Given the description of an element on the screen output the (x, y) to click on. 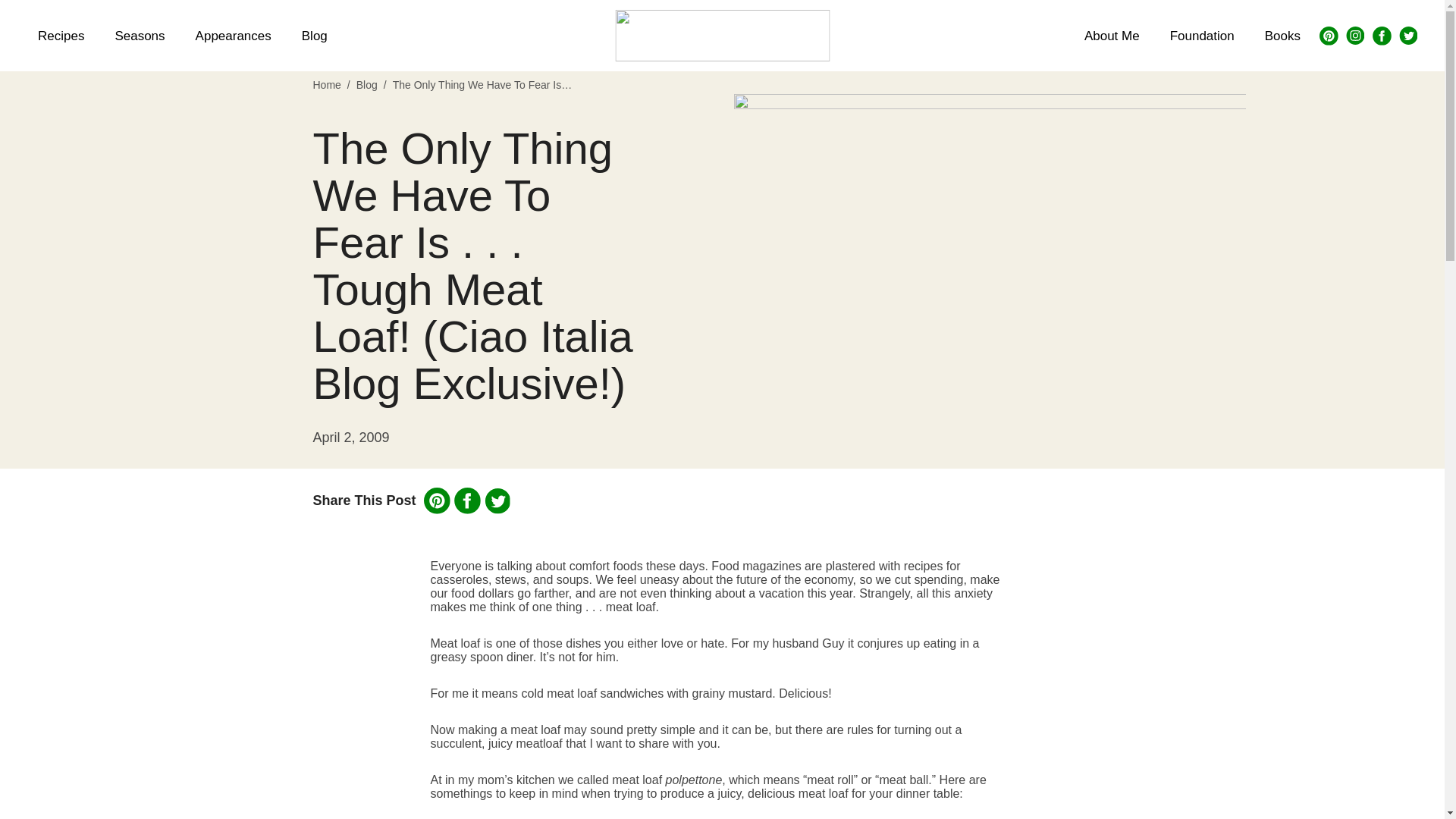
Home (326, 84)
Foundation (1201, 35)
Appearances (233, 35)
About Me (1111, 35)
Recipes (61, 35)
Books (1282, 35)
Seasons (139, 35)
homepage (721, 35)
Blog (366, 84)
